Given the description of an element on the screen output the (x, y) to click on. 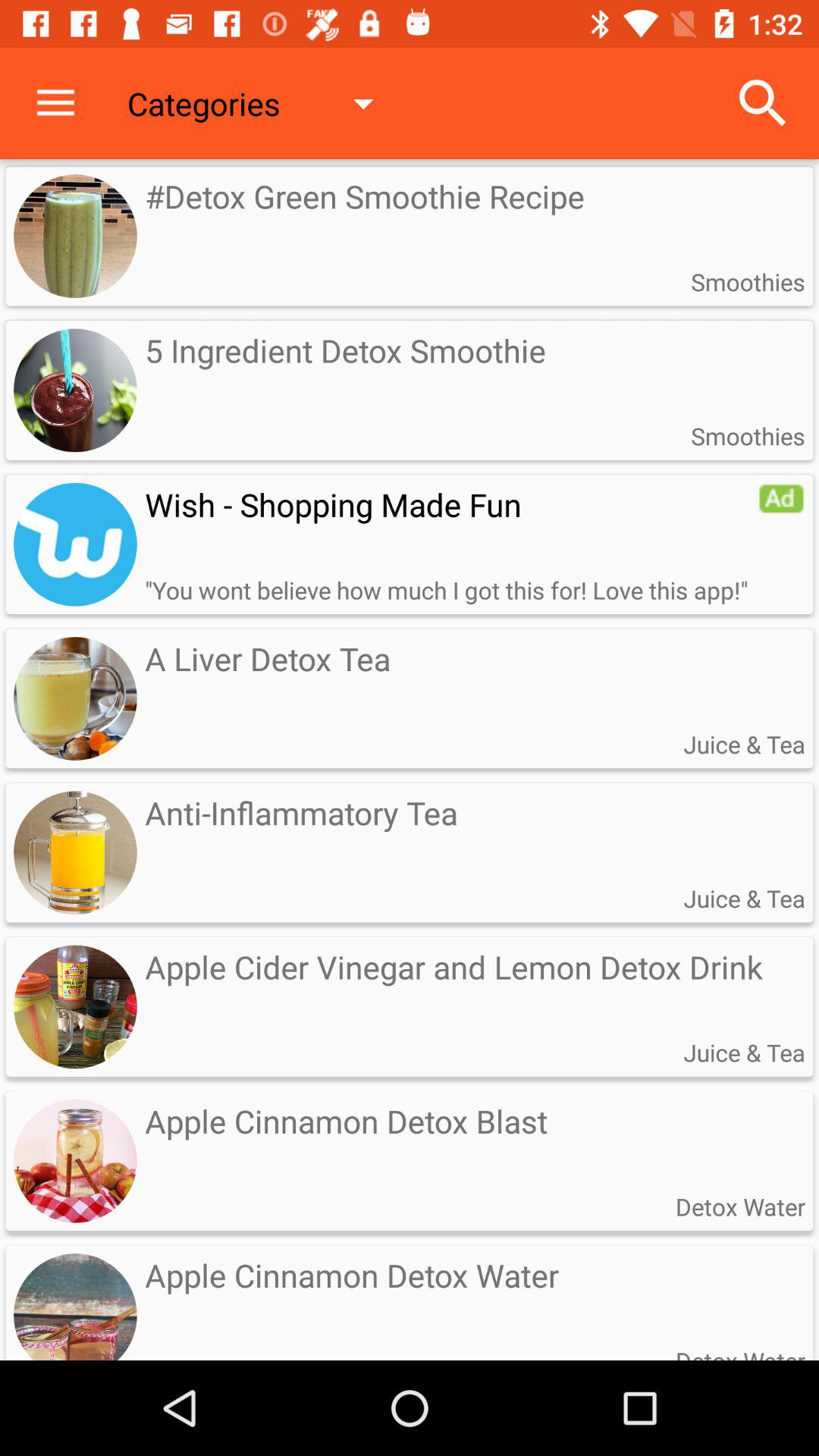
press the icon next to the wish shopping made icon (781, 498)
